Given the description of an element on the screen output the (x, y) to click on. 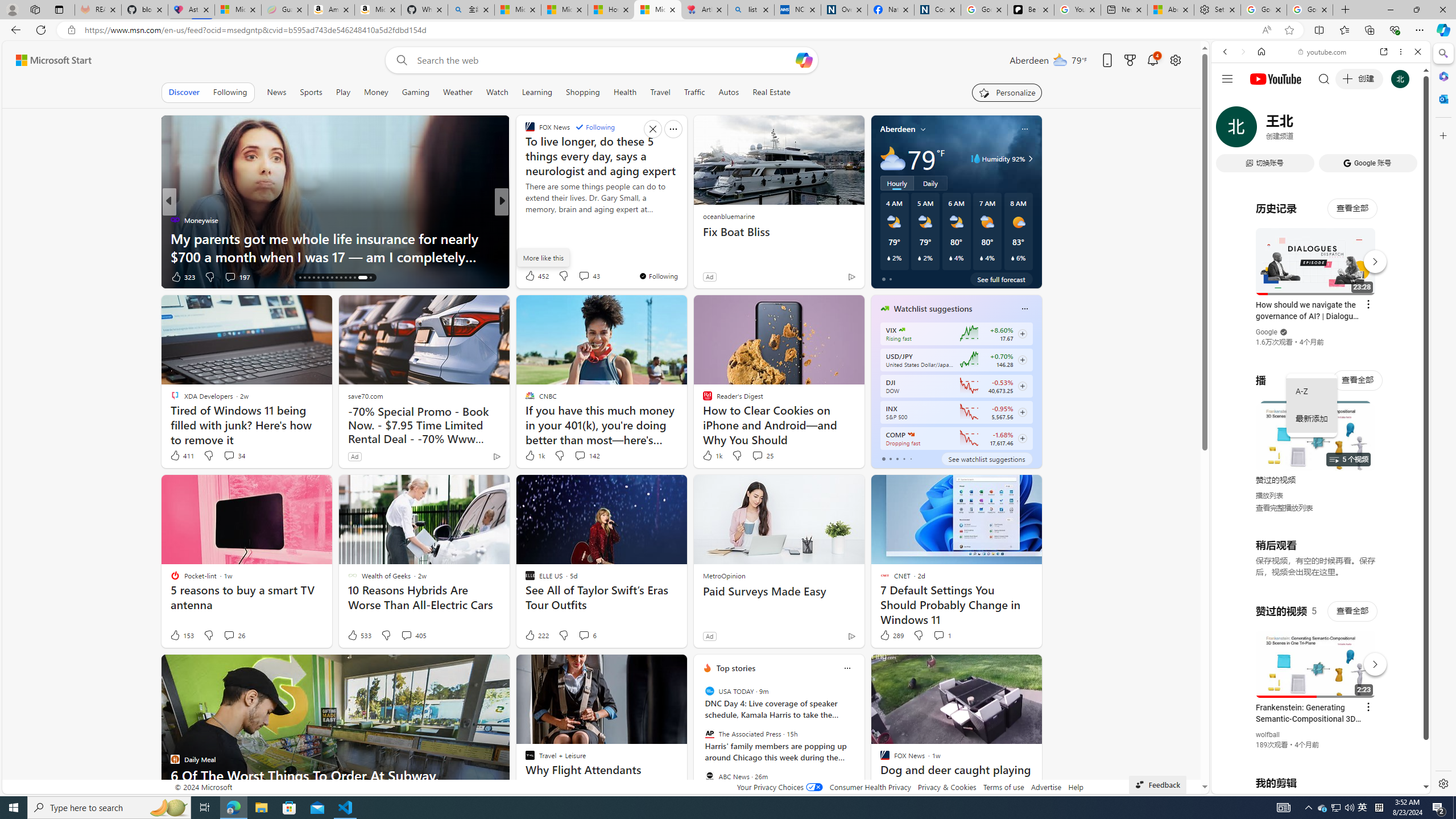
wolfball (1268, 734)
Paid Surveys Made Easy (778, 591)
The Associated Press (709, 733)
AutomationID: tab-20 (317, 277)
tab-0 (882, 458)
AutomationID: tab-16 (299, 277)
YouTube - YouTube (1315, 560)
AutomationID: tab-29 (362, 277)
Terms of use (1003, 786)
Enter your search term (603, 59)
